Given the description of an element on the screen output the (x, y) to click on. 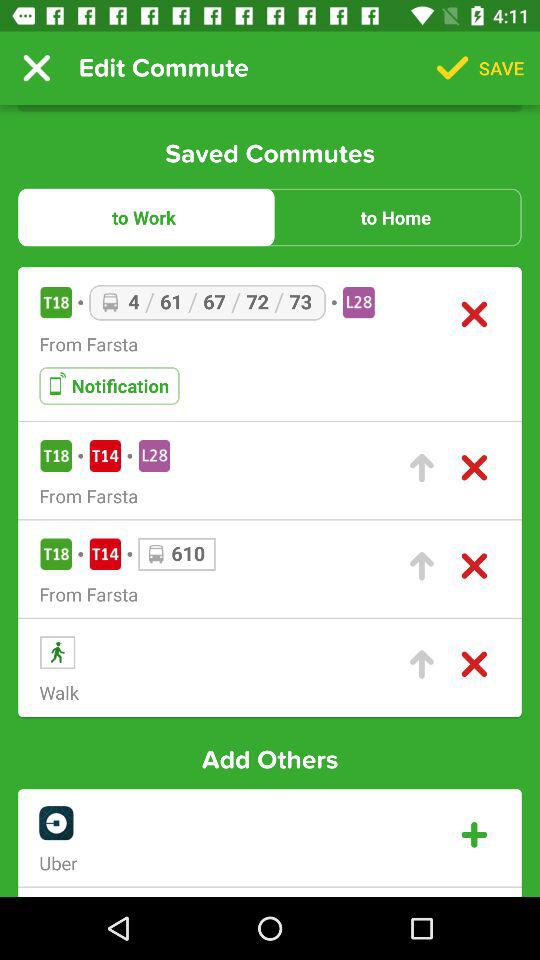
delete button (474, 566)
